Given the description of an element on the screen output the (x, y) to click on. 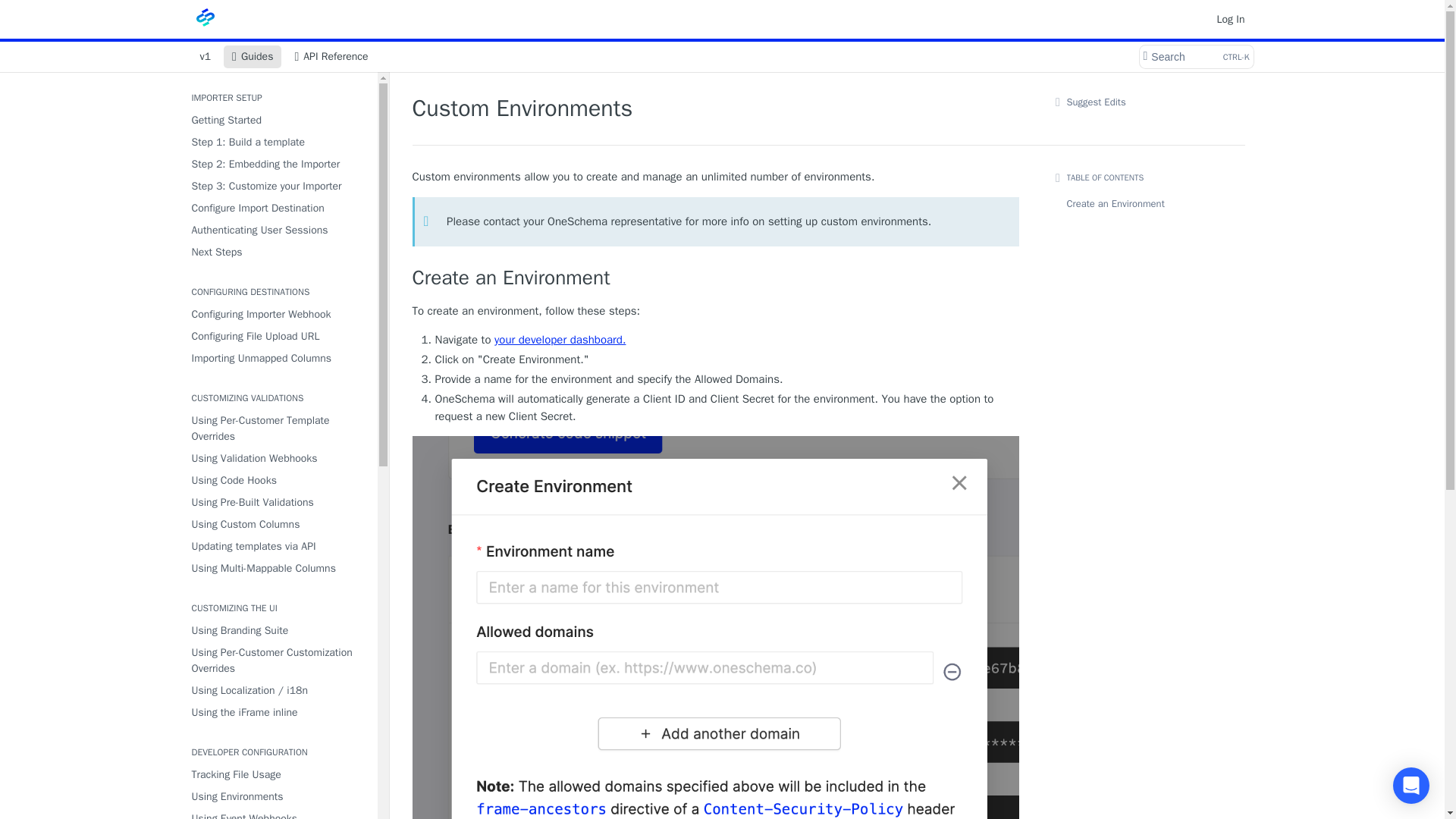
Using Event Webhooks (1195, 56)
Authenticating User Sessions (277, 813)
Using Per-Customer Template Overrides (277, 230)
Create an Environment (277, 428)
Updating templates via API (715, 278)
Using Environments (277, 546)
Using Code Hooks (277, 796)
Configure Import Destination (277, 480)
Next Steps (277, 208)
